Given the description of an element on the screen output the (x, y) to click on. 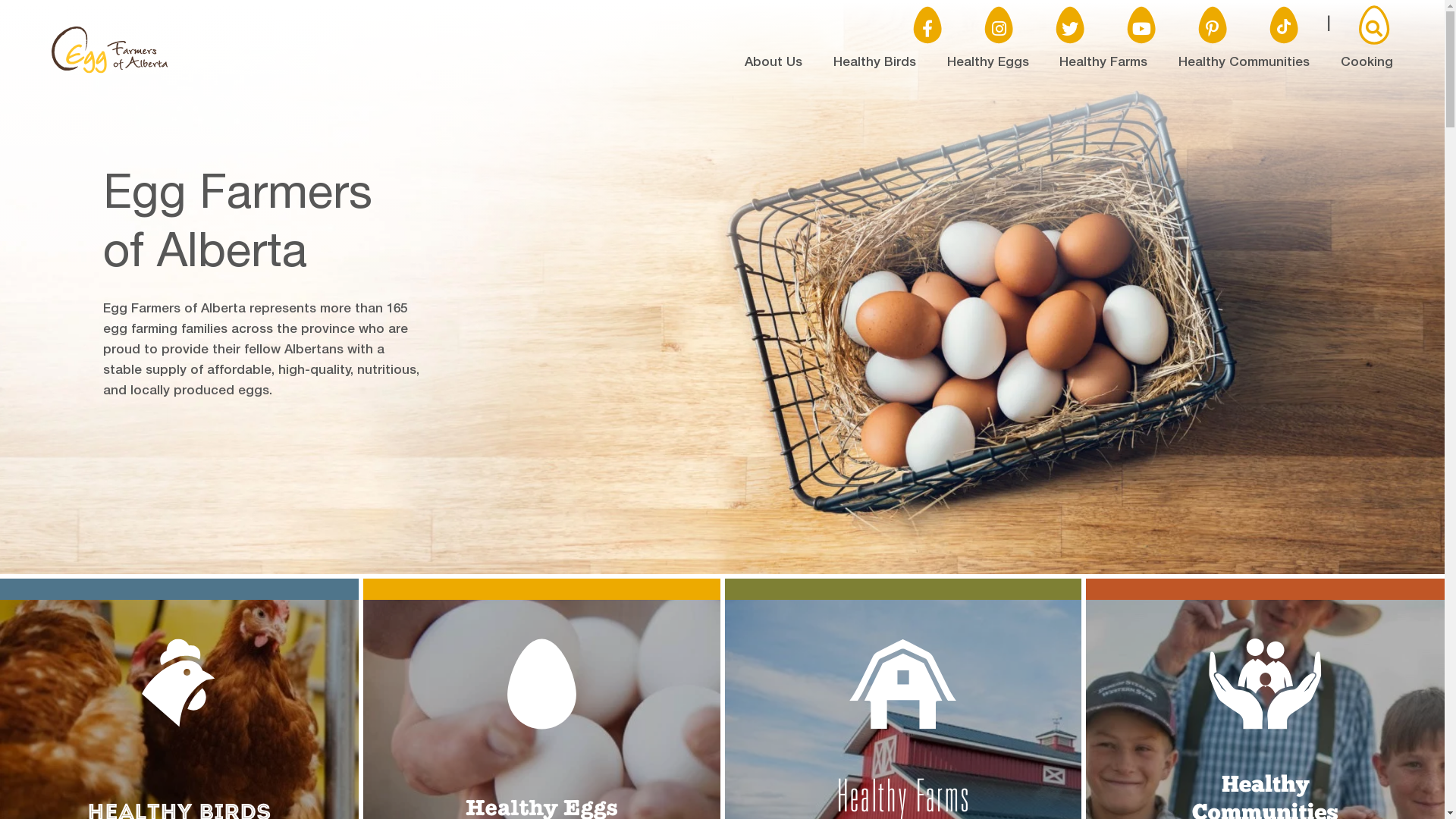
Healthy Farms Element type: text (1103, 62)
Healthy Birds Element type: text (874, 62)
Logo Element type: text (109, 70)
About Us Element type: text (773, 62)
Healthy Eggs Element type: text (988, 62)
Cooking Element type: text (1366, 62)
Healthy Communities Element type: text (1243, 62)
